Given the description of an element on the screen output the (x, y) to click on. 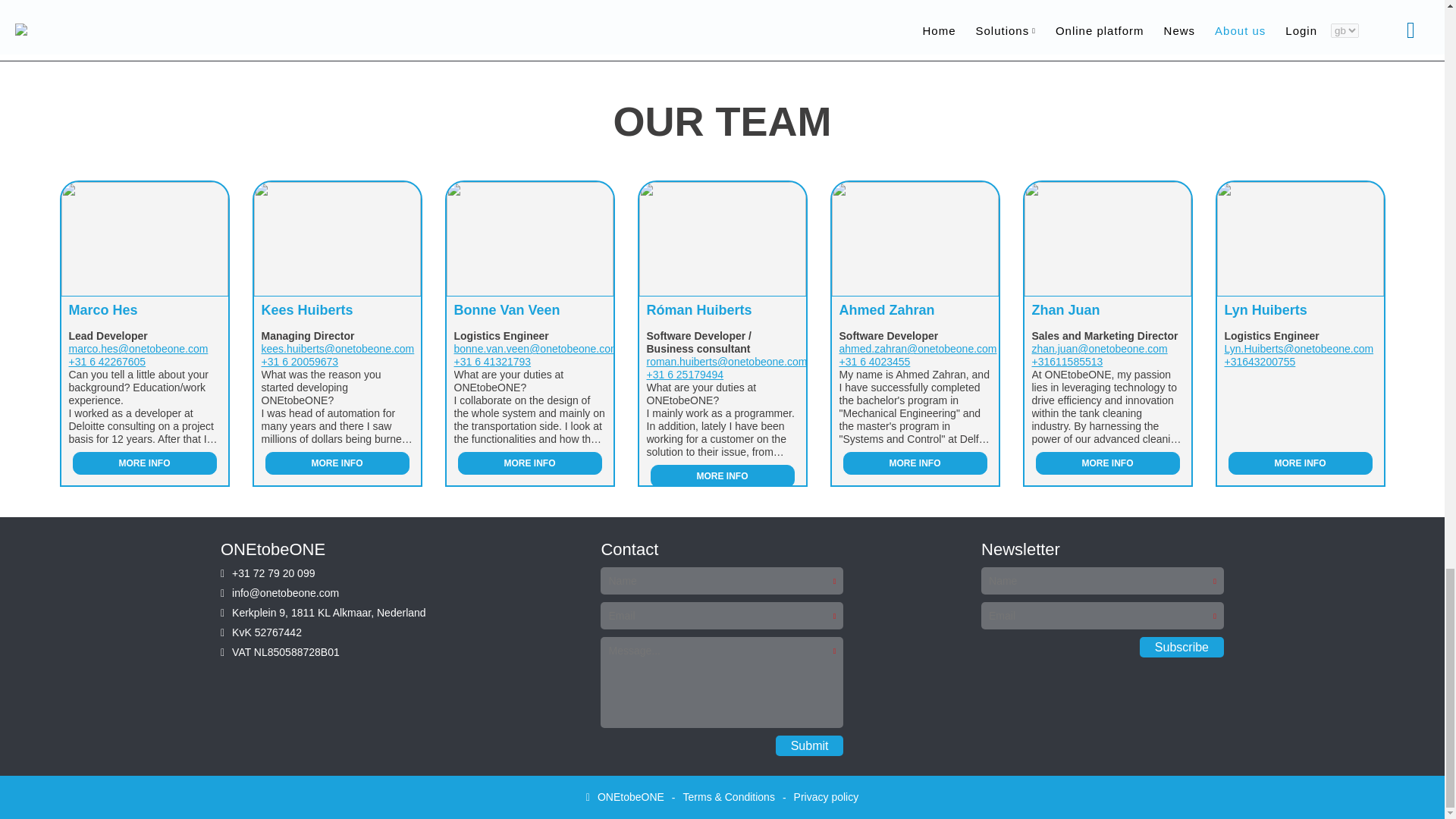
MORE INFO (530, 463)
MORE INFO (915, 463)
MORE INFO (336, 463)
MORE INFO (1107, 463)
MORE INFO (722, 476)
MORE INFO (144, 463)
